Given the description of an element on the screen output the (x, y) to click on. 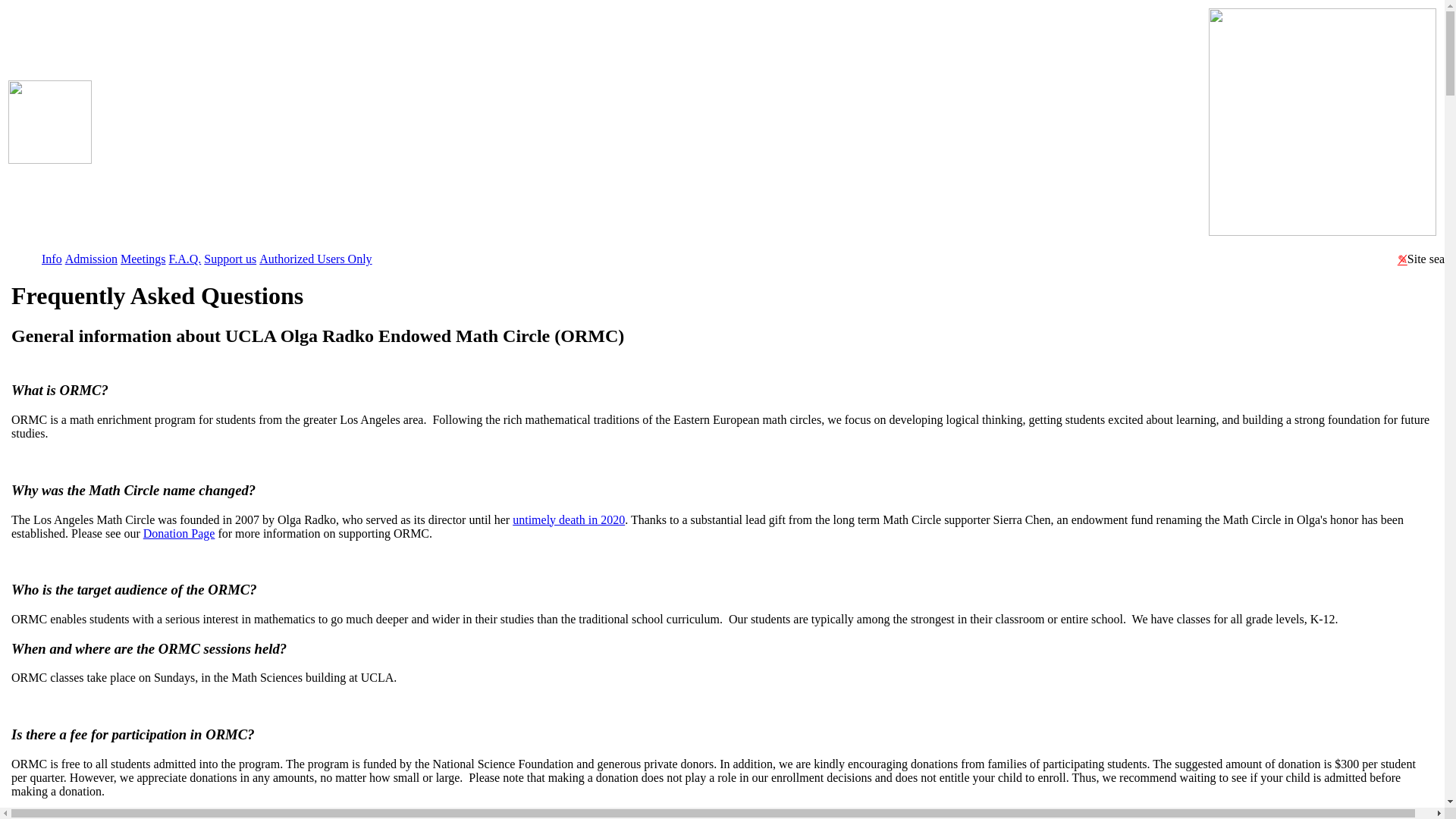
F.A.Q. (185, 258)
UCLA Olga Radko Endowed Math Circle (650, 126)
Support us (229, 258)
untimely death in 2020 (568, 518)
Meetings (142, 258)
Support us (234, 814)
Info (52, 258)
Authorized Users Only (315, 258)
Donation Page (178, 532)
Admission (91, 258)
